Given the description of an element on the screen output the (x, y) to click on. 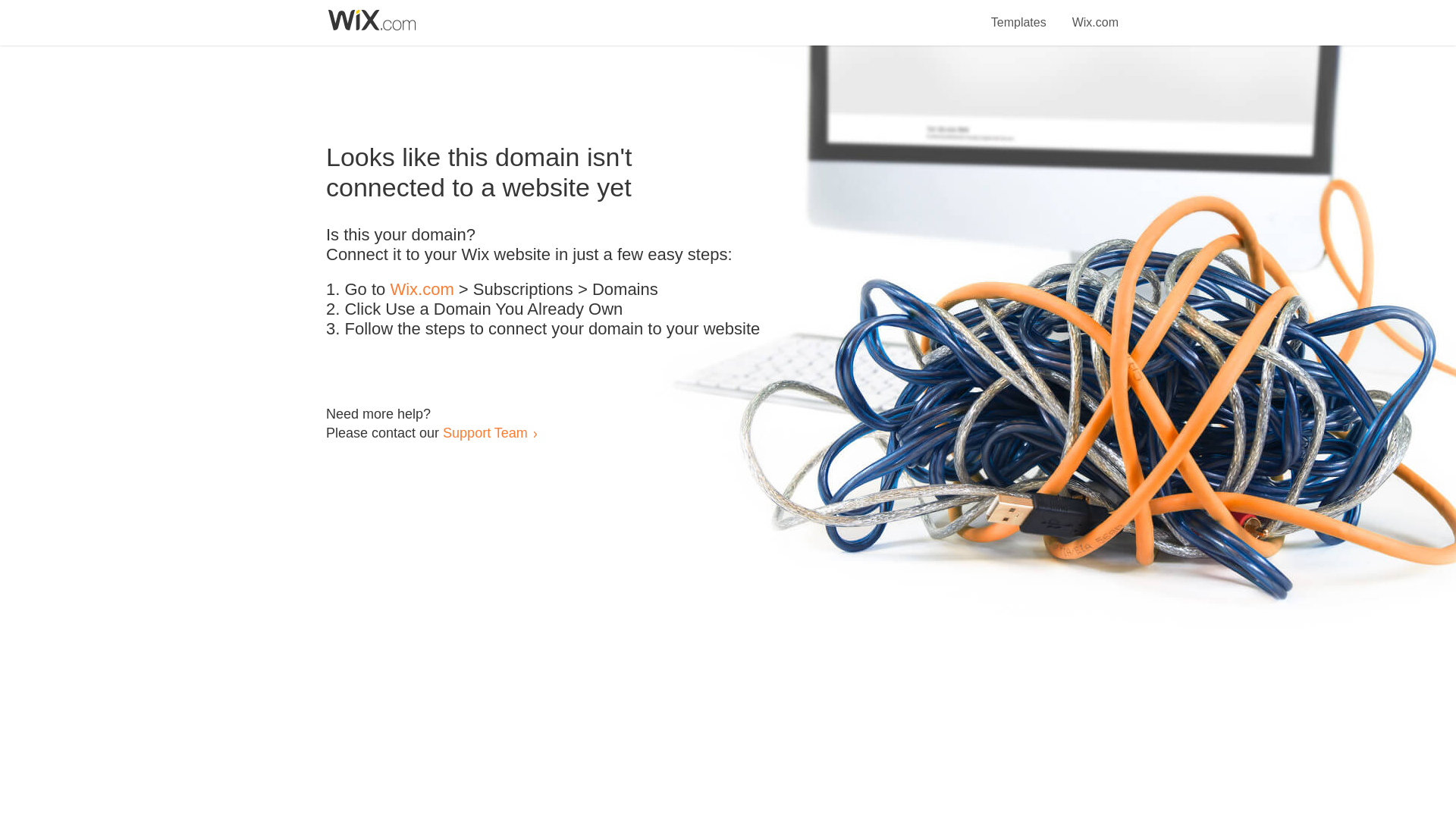
Wix.com (1095, 14)
Templates (1018, 14)
Wix.com (421, 289)
Support Team (484, 432)
